Given the description of an element on the screen output the (x, y) to click on. 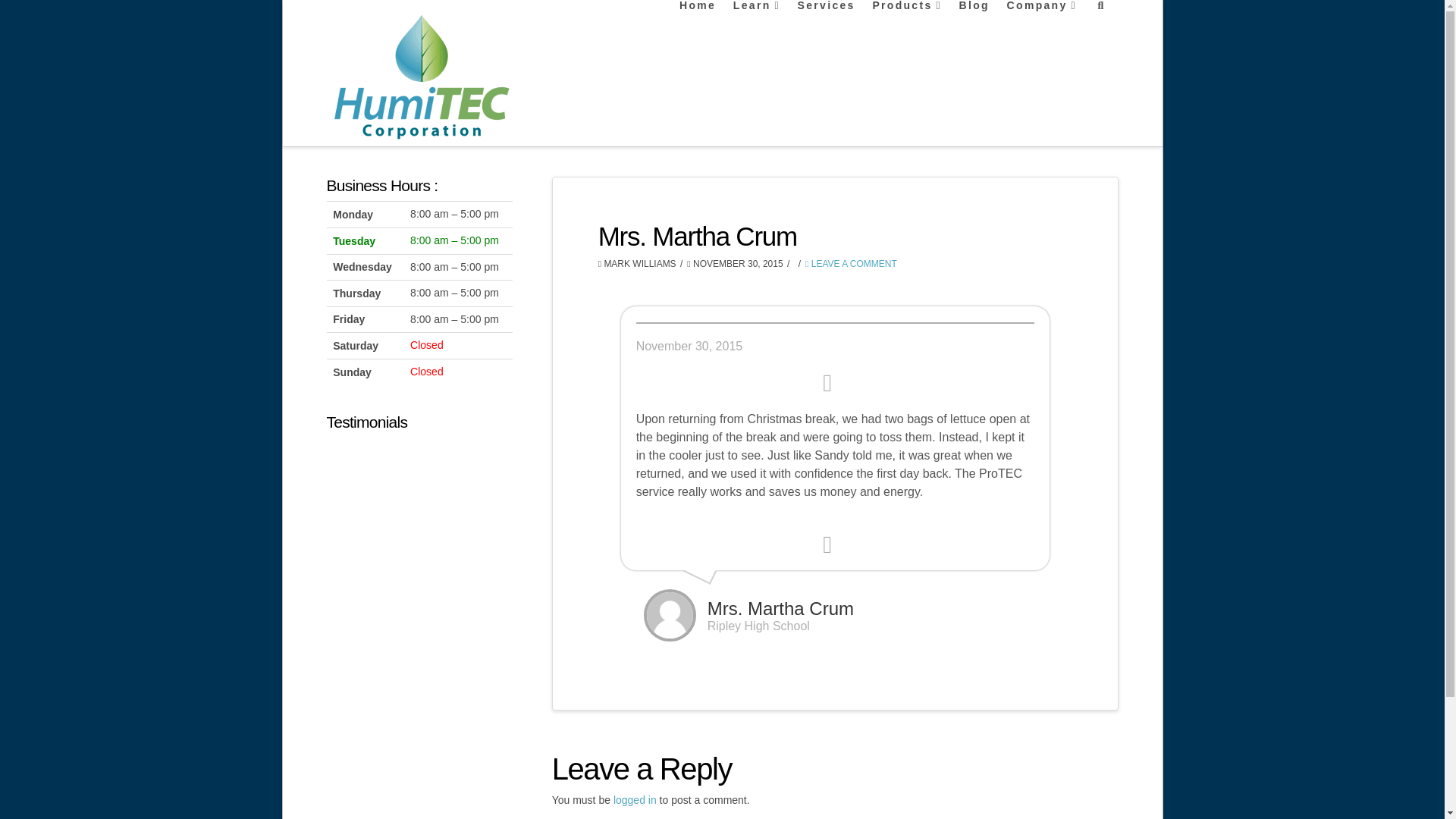
Company (1042, 28)
Home (698, 28)
Learn (757, 28)
Products (907, 28)
Services (827, 28)
